Given the description of an element on the screen output the (x, y) to click on. 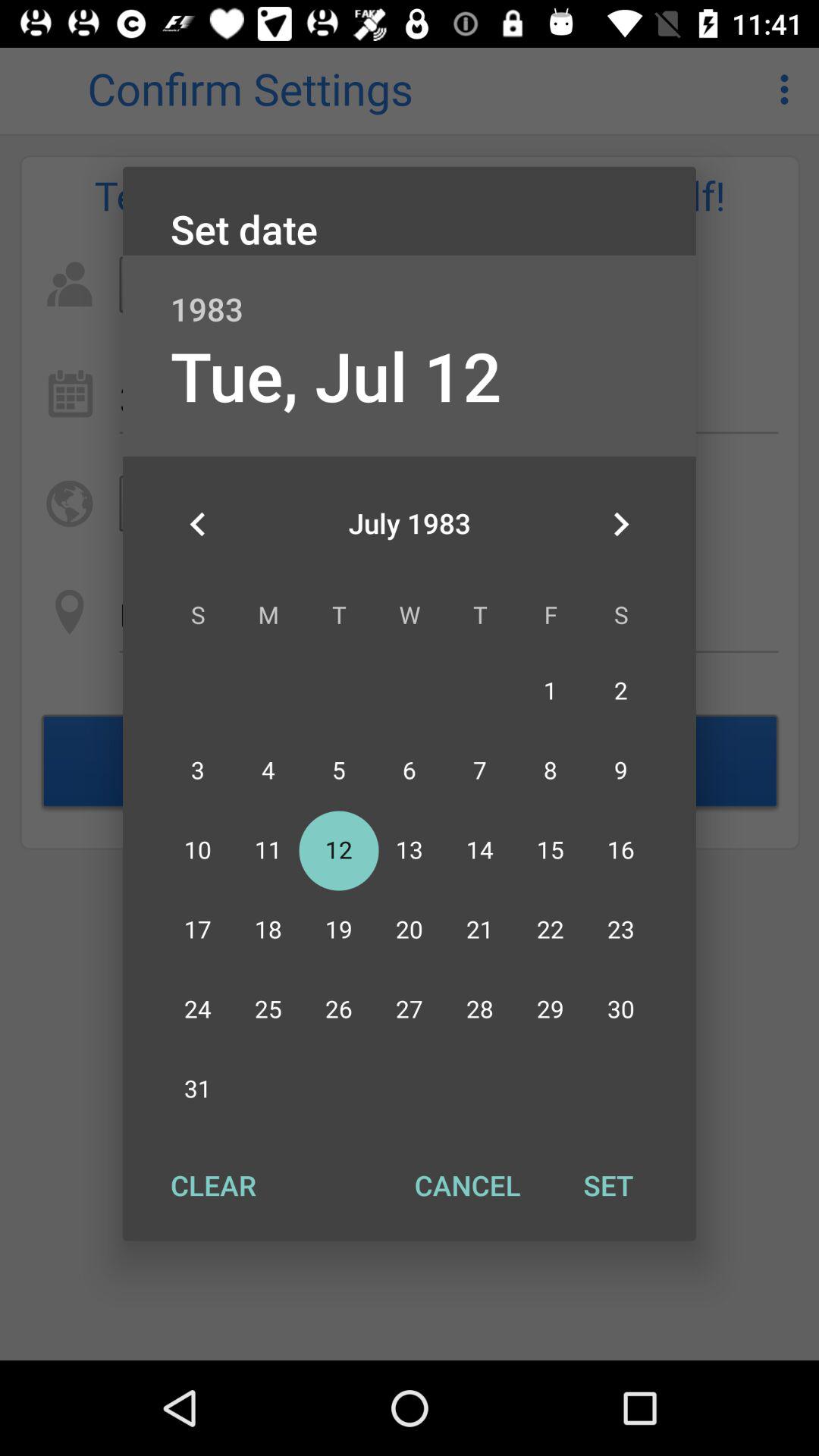
flip to 1983 icon (409, 292)
